Given the description of an element on the screen output the (x, y) to click on. 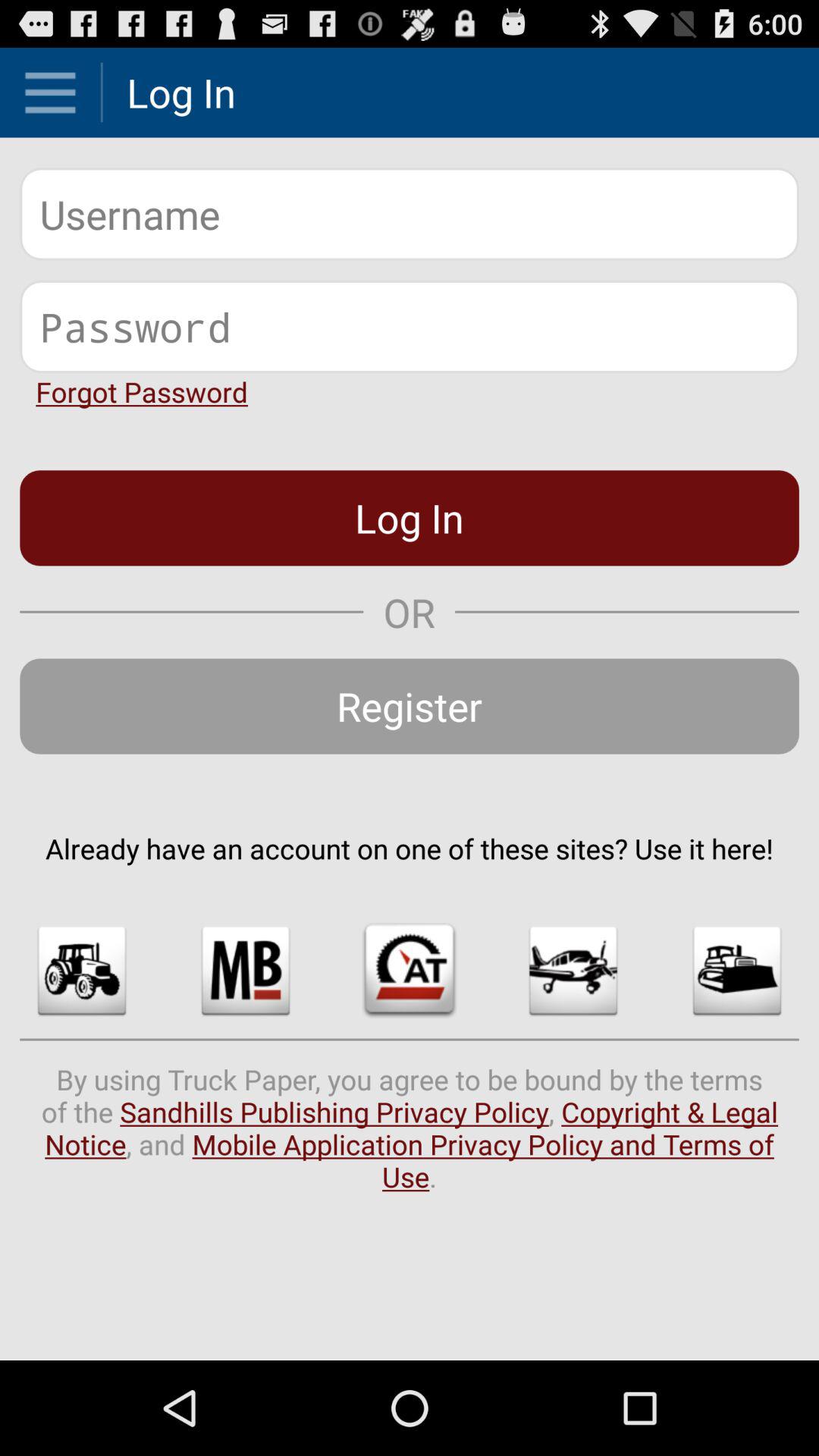
swipe until the forgot password app (141, 391)
